Given the description of an element on the screen output the (x, y) to click on. 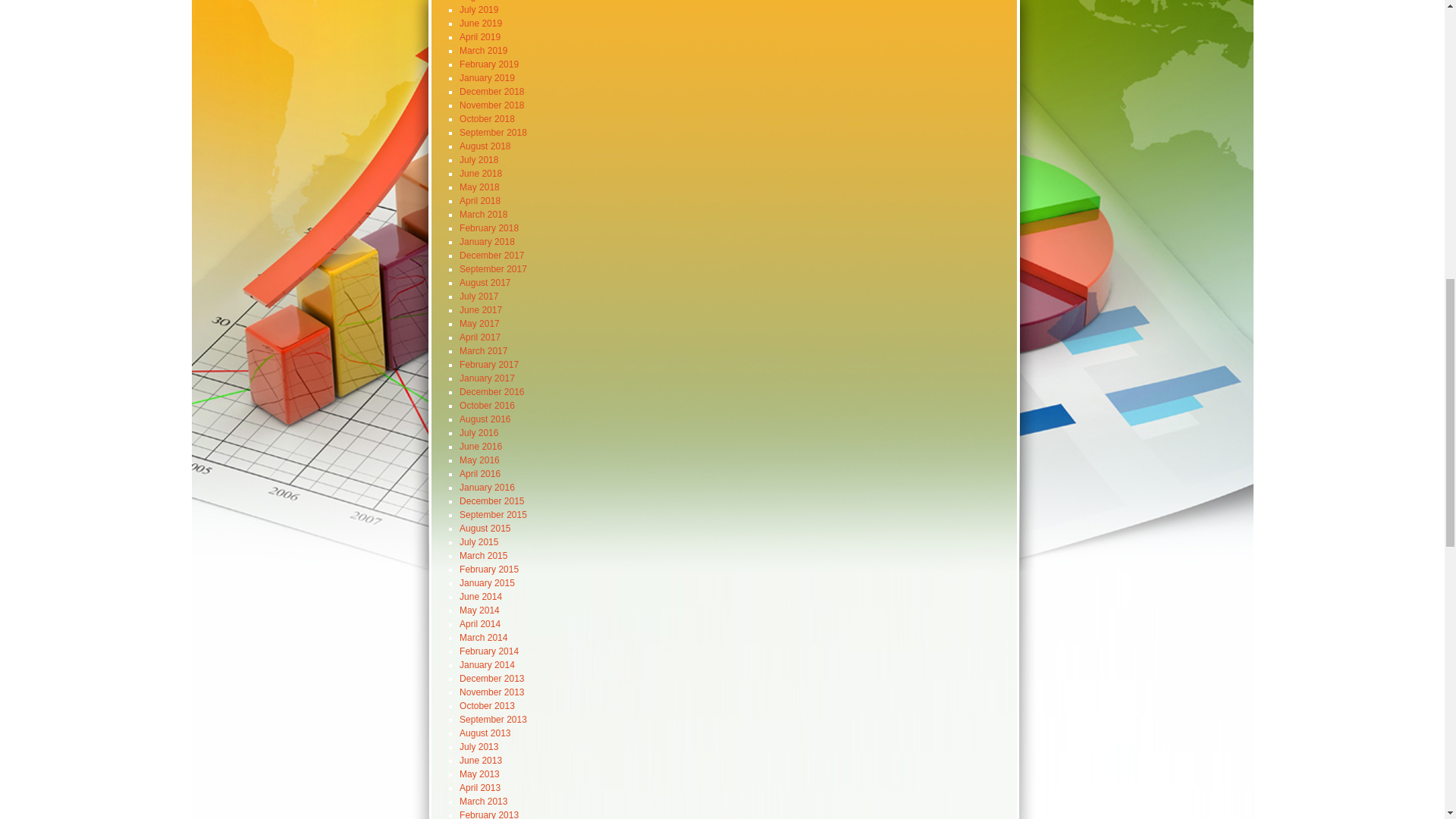
July 2019 (478, 9)
March 2019 (483, 50)
February 2019 (489, 63)
August 2019 (485, 0)
June 2019 (481, 23)
April 2019 (480, 36)
